Given the description of an element on the screen output the (x, y) to click on. 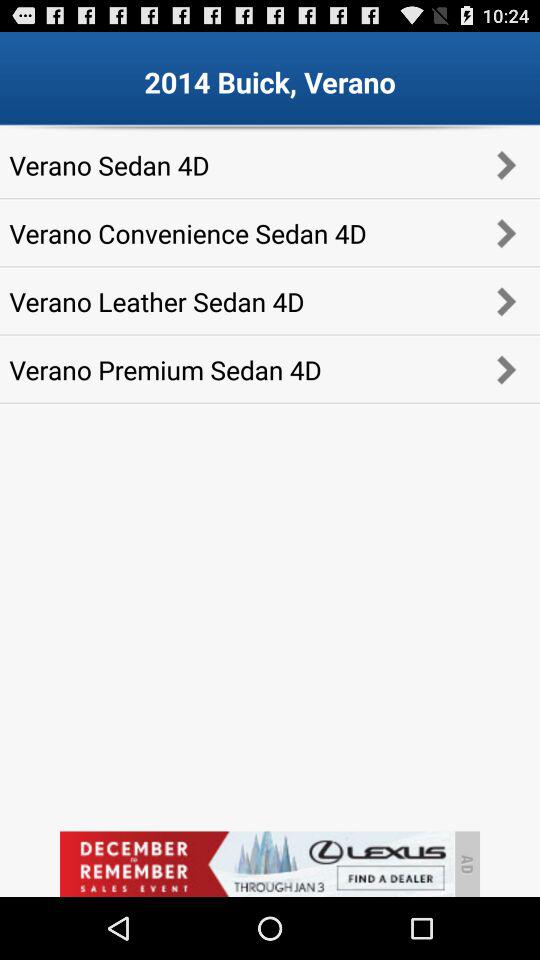
open advertisement (256, 864)
